Given the description of an element on the screen output the (x, y) to click on. 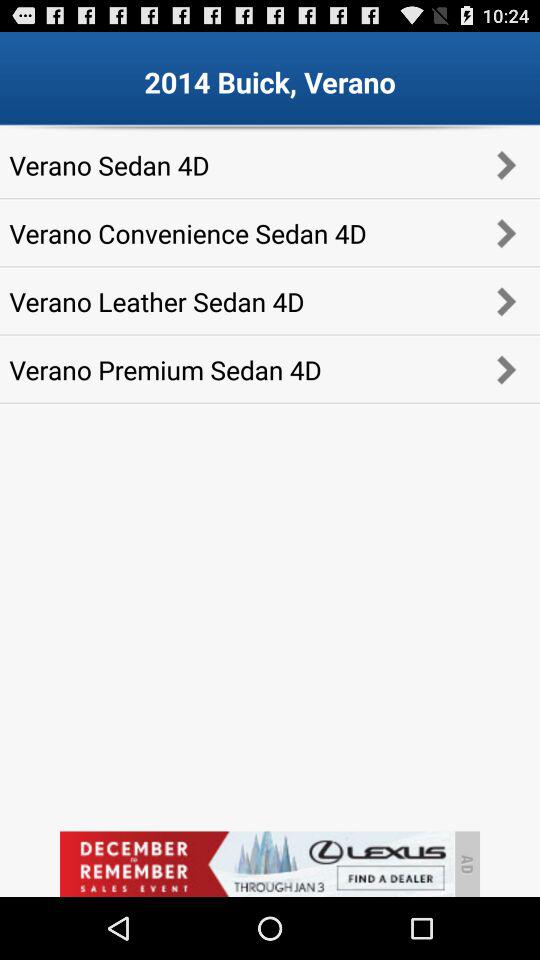
open advertisement (256, 864)
